Given the description of an element on the screen output the (x, y) to click on. 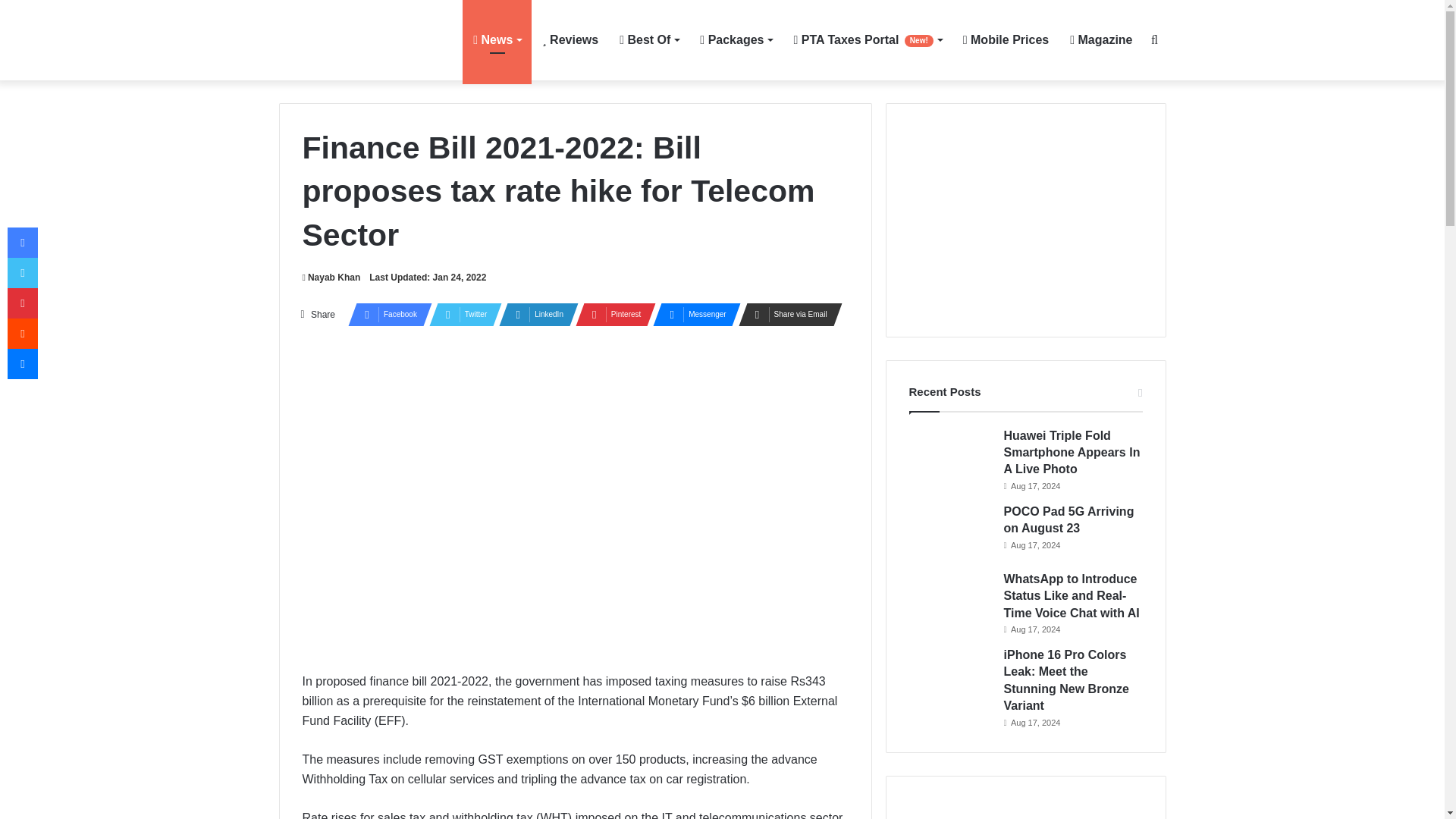
Facebook (385, 314)
LinkedIn (534, 314)
Packages (735, 40)
Pinterest (610, 314)
Share via Email (785, 314)
Twitter (461, 314)
Best Of (648, 40)
Magazine (1100, 40)
Reviews (569, 40)
Messenger (692, 314)
